Given the description of an element on the screen output the (x, y) to click on. 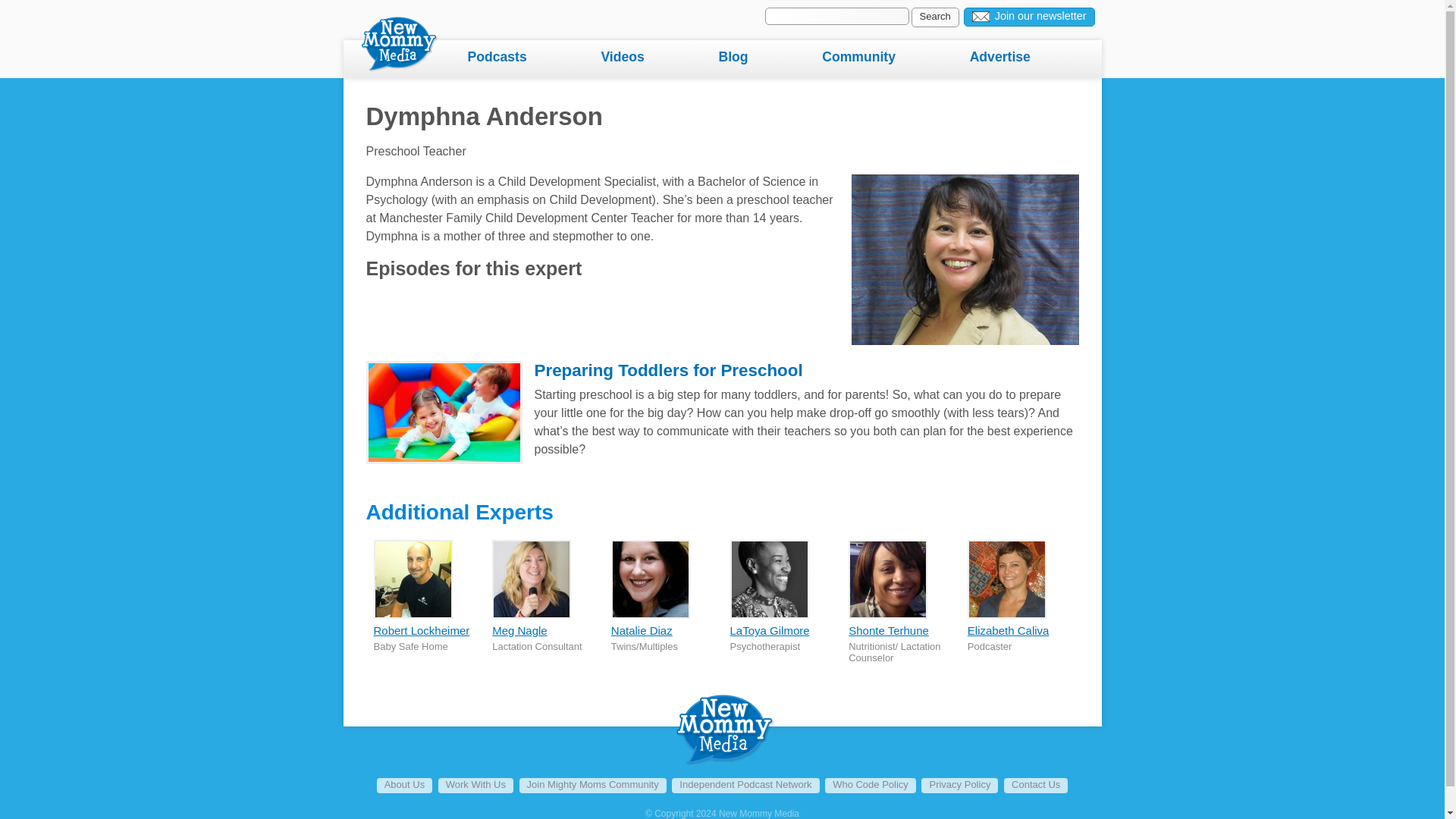
Videos (655, 57)
Advertise (1034, 57)
Community (892, 57)
Preparing Toddlers for Preschool (668, 370)
LaToya Gilmore (769, 630)
Blog (766, 57)
LaToya Gilmore (769, 630)
Robert Lockheimer (420, 630)
Natalie Diaz (641, 630)
Contact Us (1035, 785)
